Given the description of an element on the screen output the (x, y) to click on. 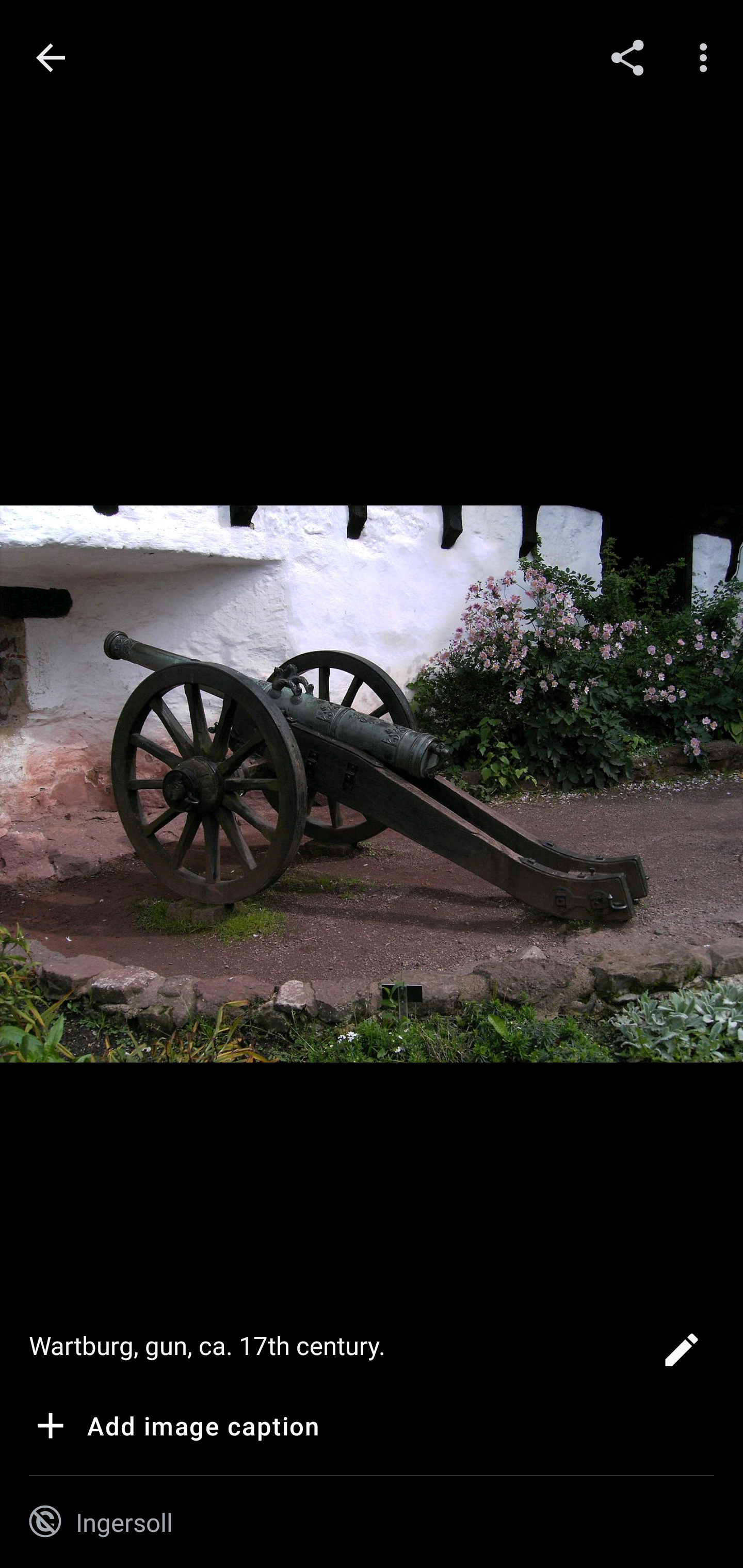
Navigate up (50, 57)
Share (626, 57)
More options (706, 57)
Edit image caption (681, 1355)
Add image caption (174, 1428)
Public domain (44, 1521)
